Given the description of an element on the screen output the (x, y) to click on. 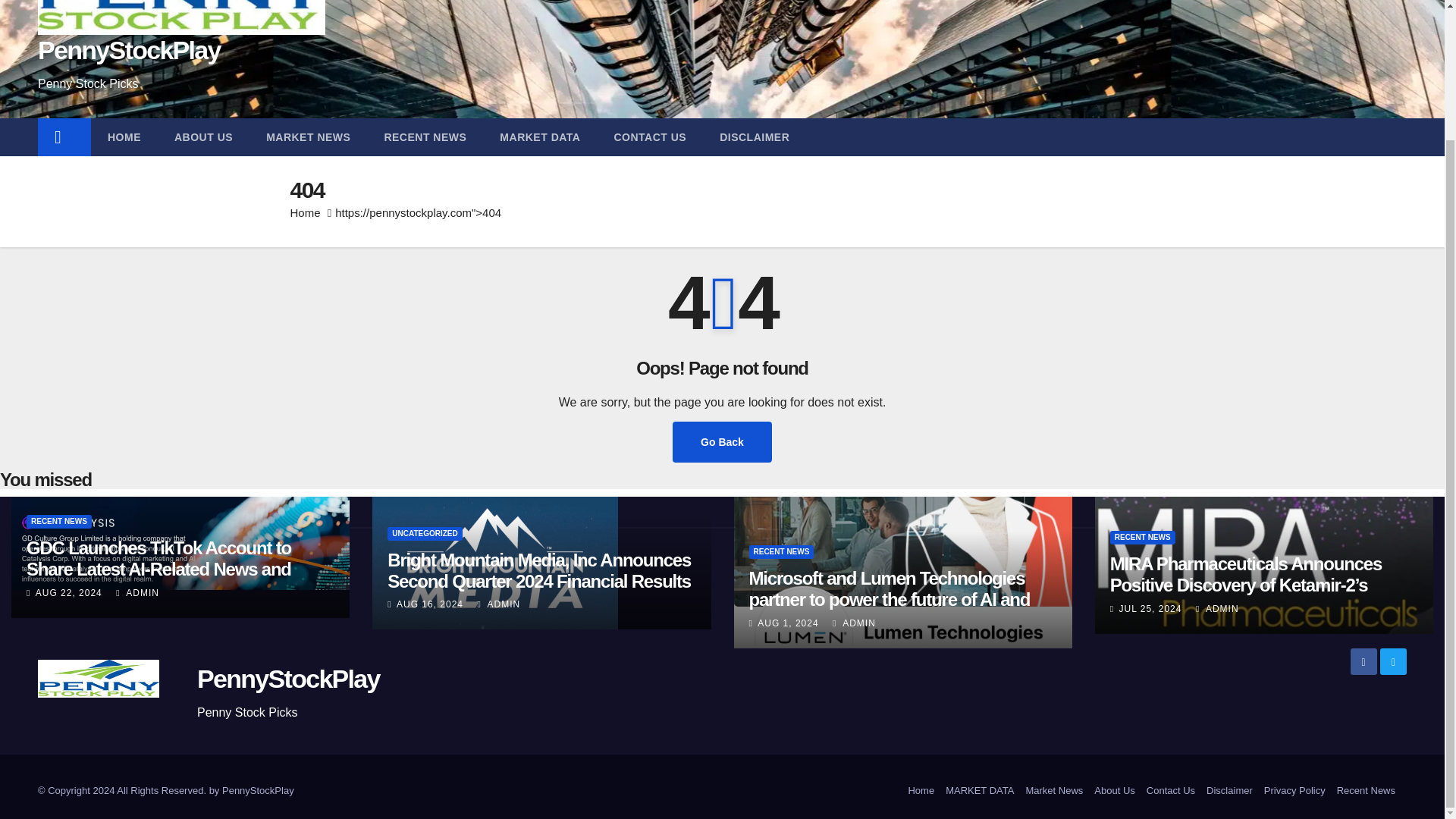
RECENT NEWS (58, 521)
HOME (123, 136)
ADMIN (854, 623)
Home (304, 212)
CONTACT US (649, 136)
MARKET DATA (539, 136)
DISCLAIMER (754, 136)
ABOUT US (202, 136)
